Given the description of an element on the screen output the (x, y) to click on. 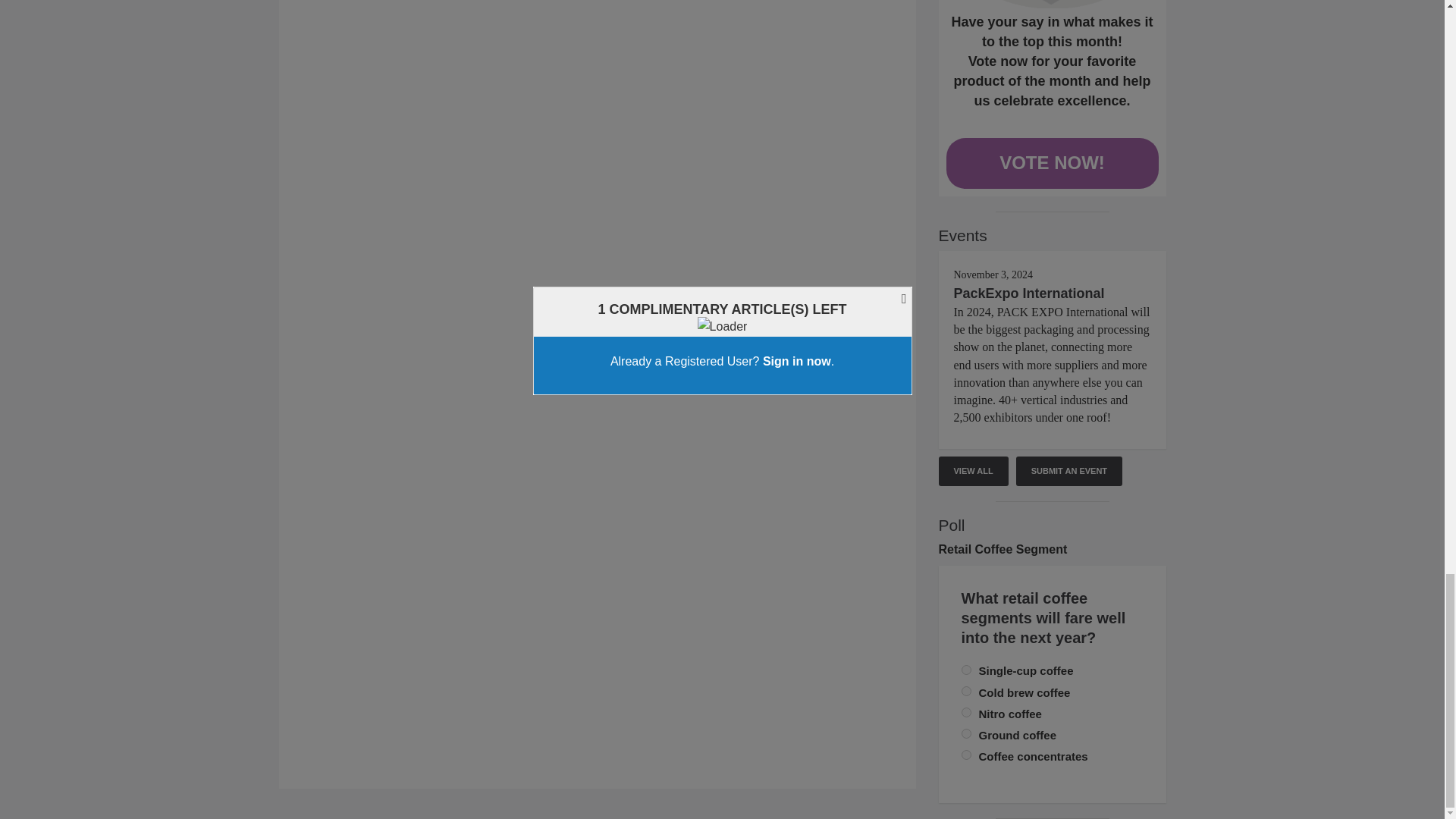
3095 (965, 755)
Vote (1052, 4)
3096 (965, 733)
PackExpo International (1029, 293)
3094 (965, 712)
3093 (965, 691)
3092 (965, 669)
